Given the description of an element on the screen output the (x, y) to click on. 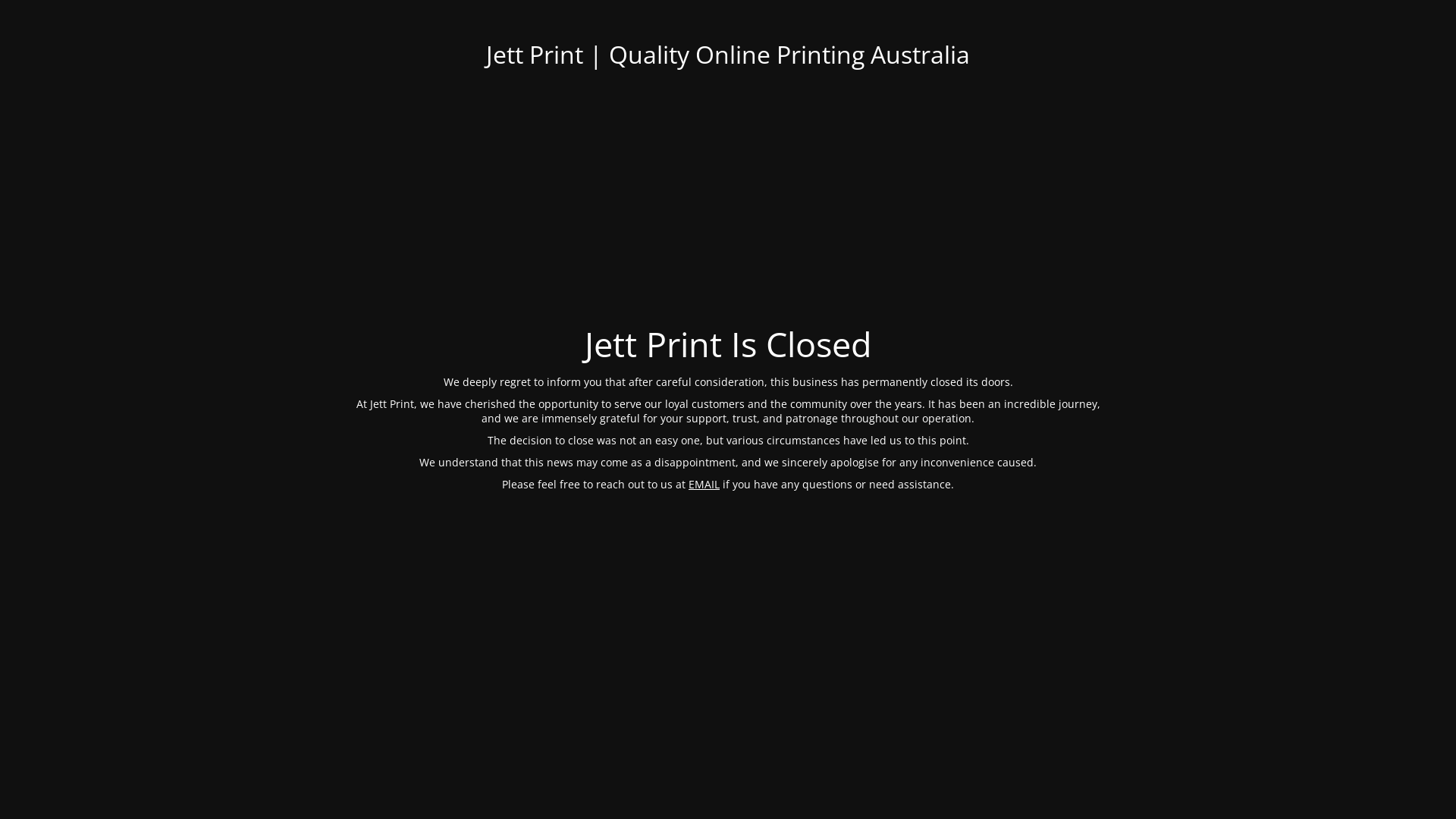
EMAIL Element type: text (703, 483)
